Given the description of an element on the screen output the (x, y) to click on. 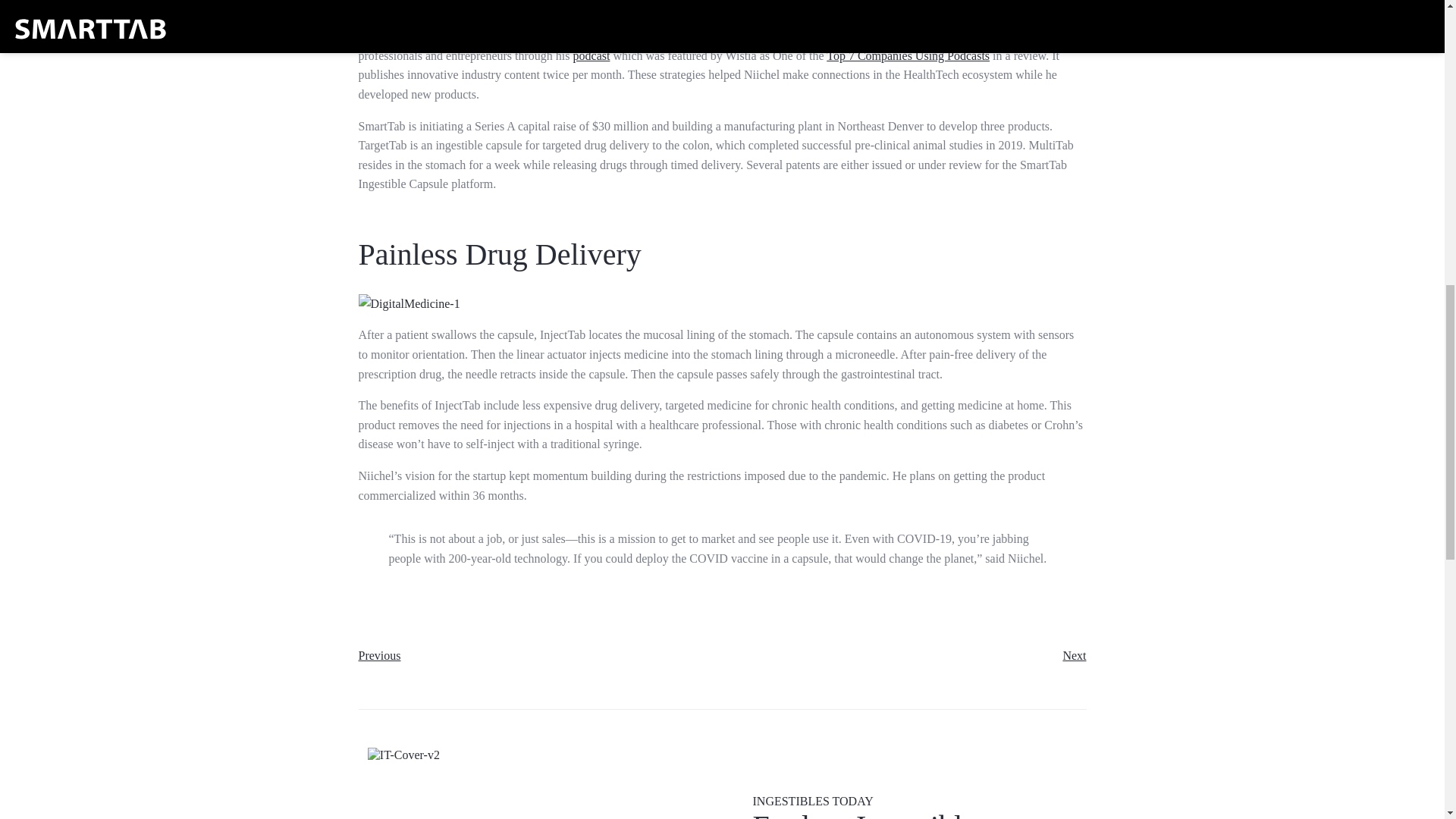
IT-Cover-v2 (545, 783)
podcast (591, 55)
HLTH (891, 16)
Top 7 Companies Using Podcasts (908, 55)
Next (1074, 655)
BioPharm America Conference (692, 26)
Previous (379, 655)
